Given the description of an element on the screen output the (x, y) to click on. 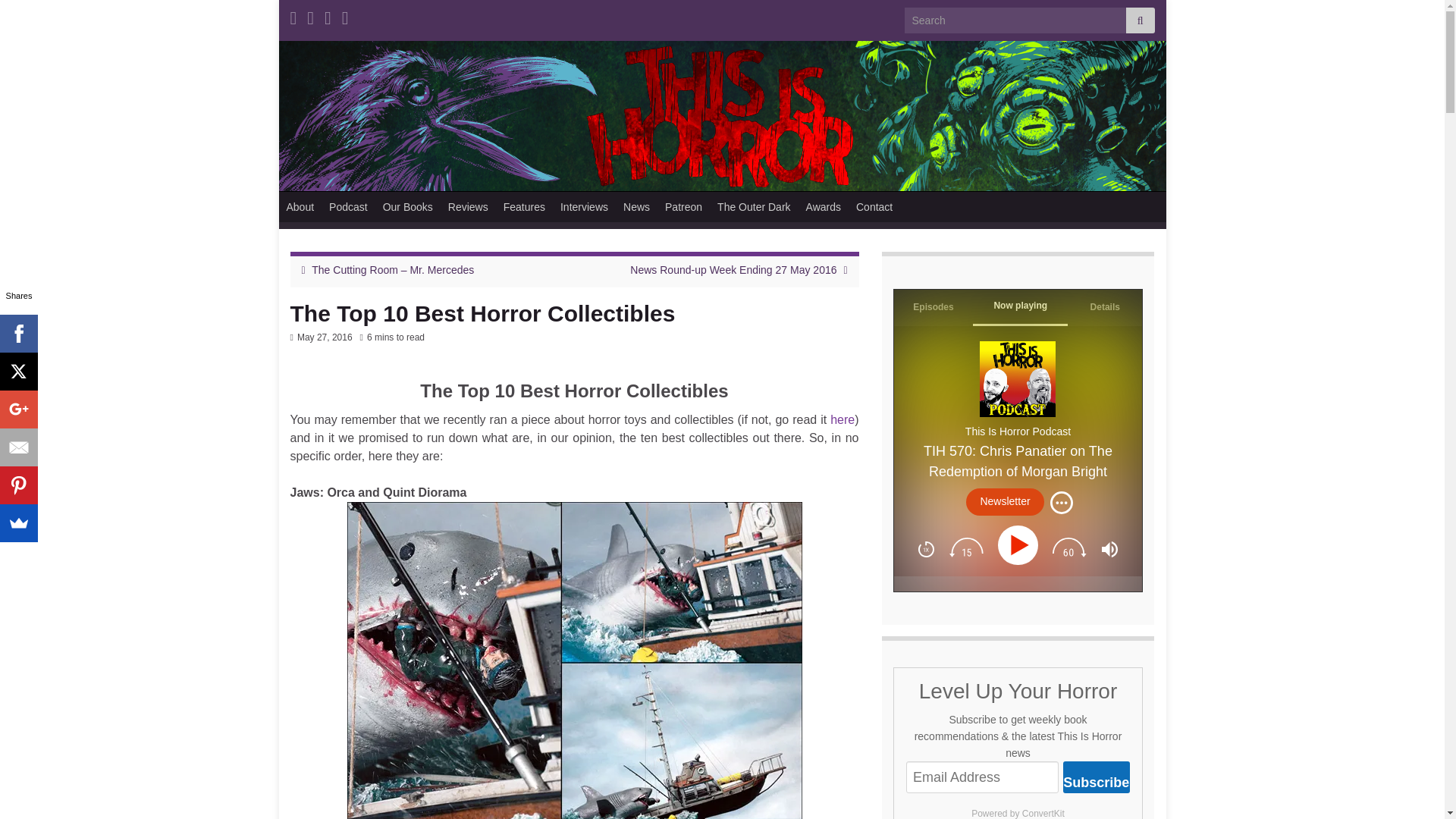
About (300, 206)
here (841, 419)
Features (524, 206)
Reviews (468, 206)
The Outer Dark (753, 206)
cropped-header-1170x198px.png (722, 115)
News (636, 206)
Our Books (408, 206)
Podcast (348, 206)
Contact (873, 206)
Awards (822, 206)
About (300, 206)
Patreon (684, 206)
Newsletter (1004, 501)
